Given the description of an element on the screen output the (x, y) to click on. 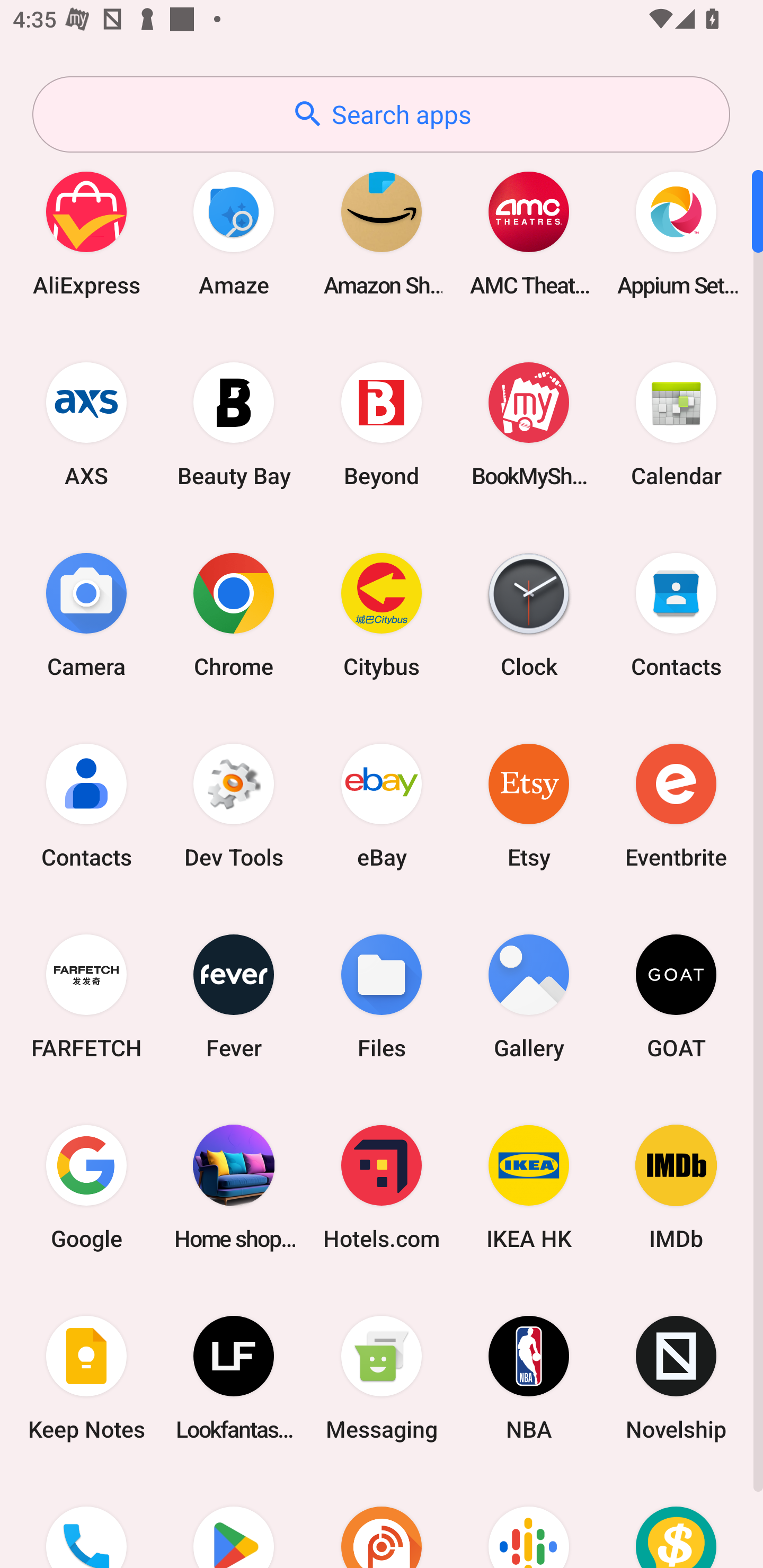
  Search apps (381, 114)
AliExpress (86, 233)
Amaze (233, 233)
Amazon Shopping (381, 233)
AMC Theatres (528, 233)
Appium Settings (676, 233)
AXS (86, 424)
Beauty Bay (233, 424)
Beyond (381, 424)
BookMyShow (528, 424)
Calendar (676, 424)
Camera (86, 614)
Chrome (233, 614)
Citybus (381, 614)
Clock (528, 614)
Contacts (676, 614)
Contacts (86, 805)
Dev Tools (233, 805)
eBay (381, 805)
Etsy (528, 805)
Eventbrite (676, 805)
FARFETCH (86, 996)
Fever (233, 996)
Files (381, 996)
Gallery (528, 996)
GOAT (676, 996)
Google (86, 1186)
Home shopping (233, 1186)
Hotels.com (381, 1186)
IKEA HK (528, 1186)
IMDb (676, 1186)
Keep Notes (86, 1377)
Lookfantastic (233, 1377)
Messaging (381, 1377)
NBA (528, 1377)
Novelship (676, 1377)
Phone (86, 1520)
Play Store (233, 1520)
Podcast Addict (381, 1520)
Podcasts (528, 1520)
Price (676, 1520)
